Given the description of an element on the screen output the (x, y) to click on. 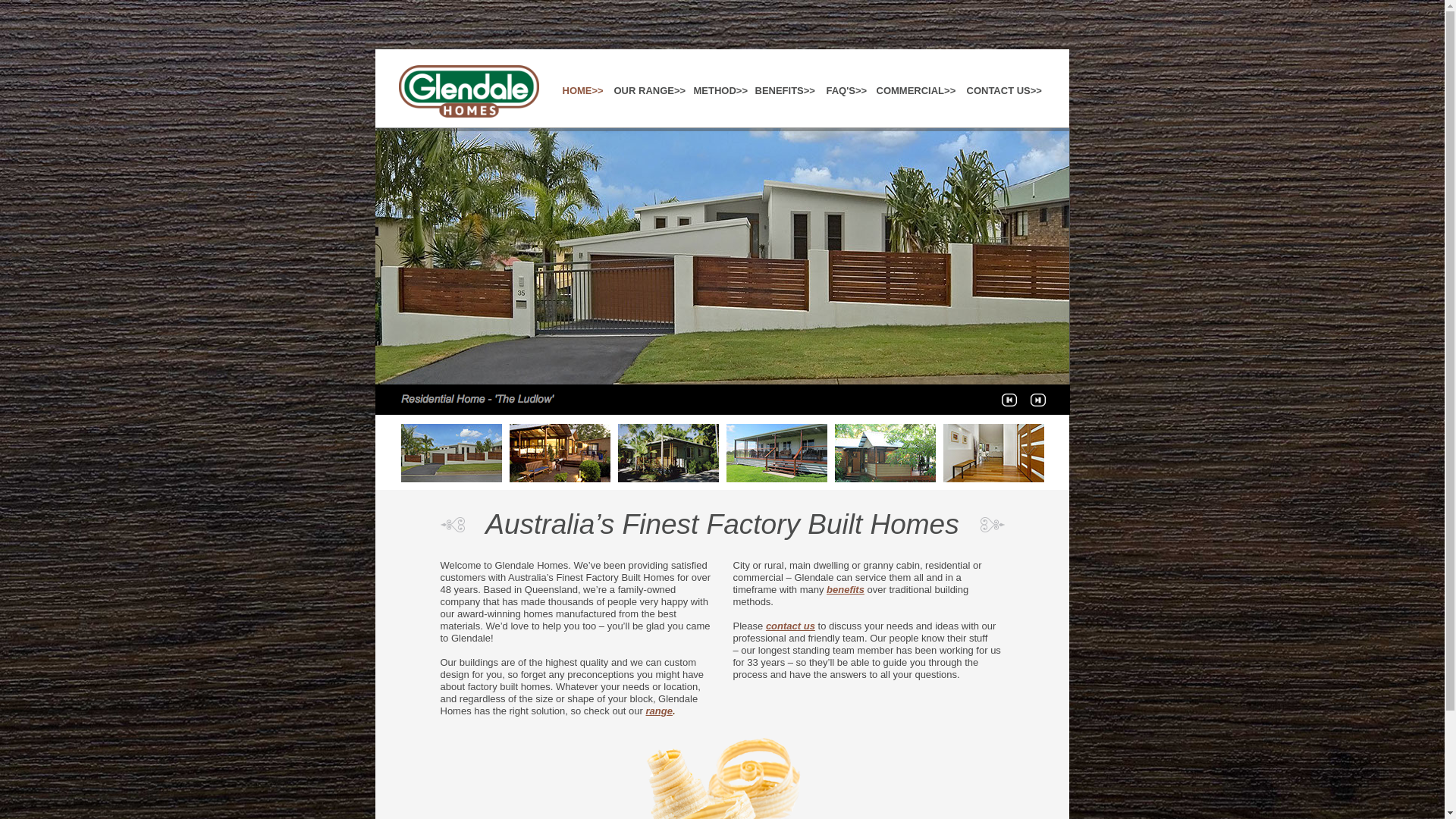
FAQ'S>> Element type: text (847, 90)
OUR RANGE>> Element type: text (682, 90)
BENEFITS>> Element type: text (785, 90)
contact us Element type: text (790, 625)
range Element type: text (659, 710)
HOME>> Element type: text (583, 90)
METHOD>> Element type: text (761, 90)
COMMERCIAL>> Element type: text (916, 90)
benefits Element type: text (845, 589)
CONTACT US>> Element type: text (1003, 90)
